Given the description of an element on the screen output the (x, y) to click on. 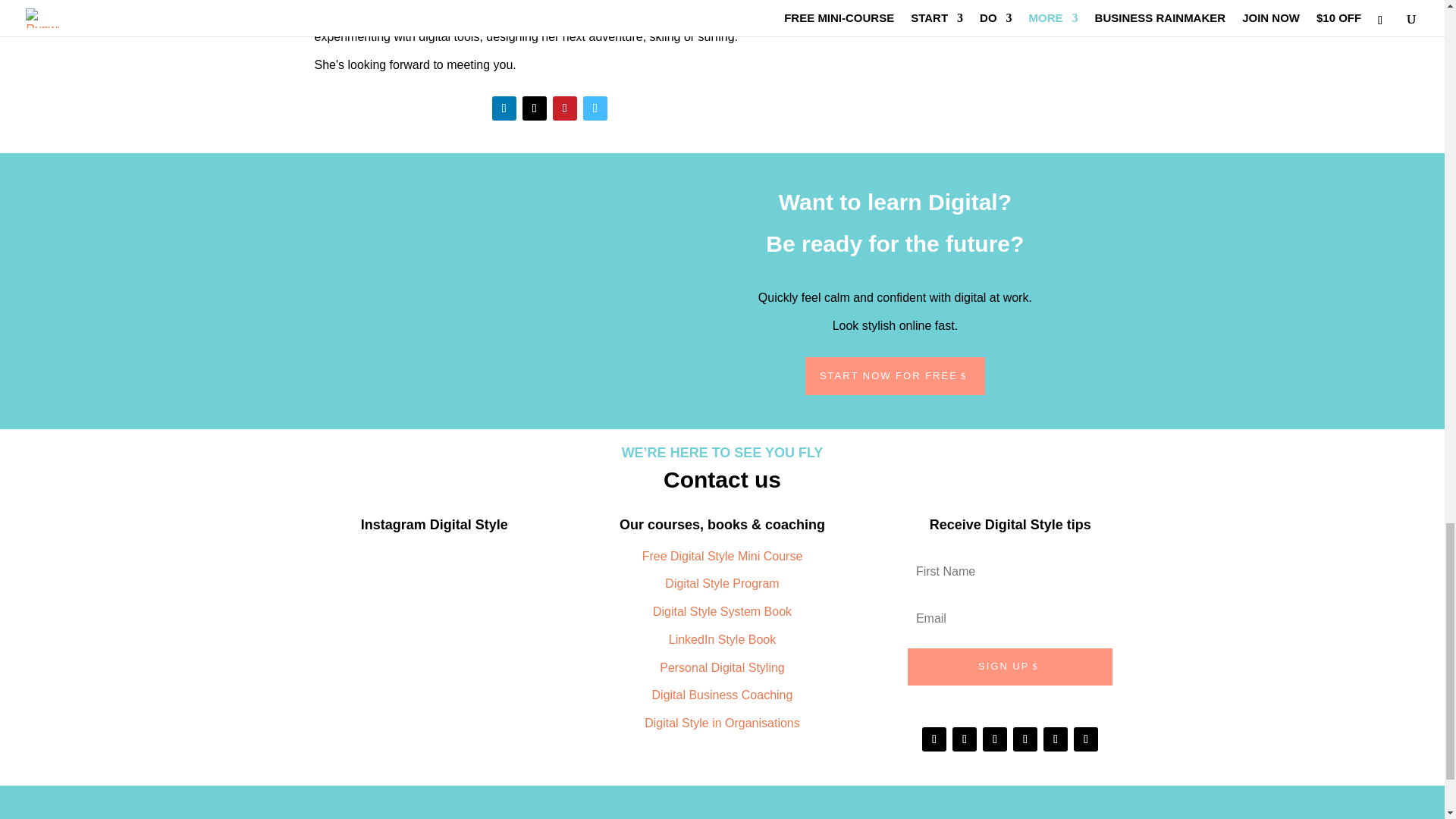
Follow on Vimeo (595, 108)
Follow on LinkedIn (504, 108)
Follow on Pinterest (564, 108)
Follow on Twitter (534, 108)
